Given the description of an element on the screen output the (x, y) to click on. 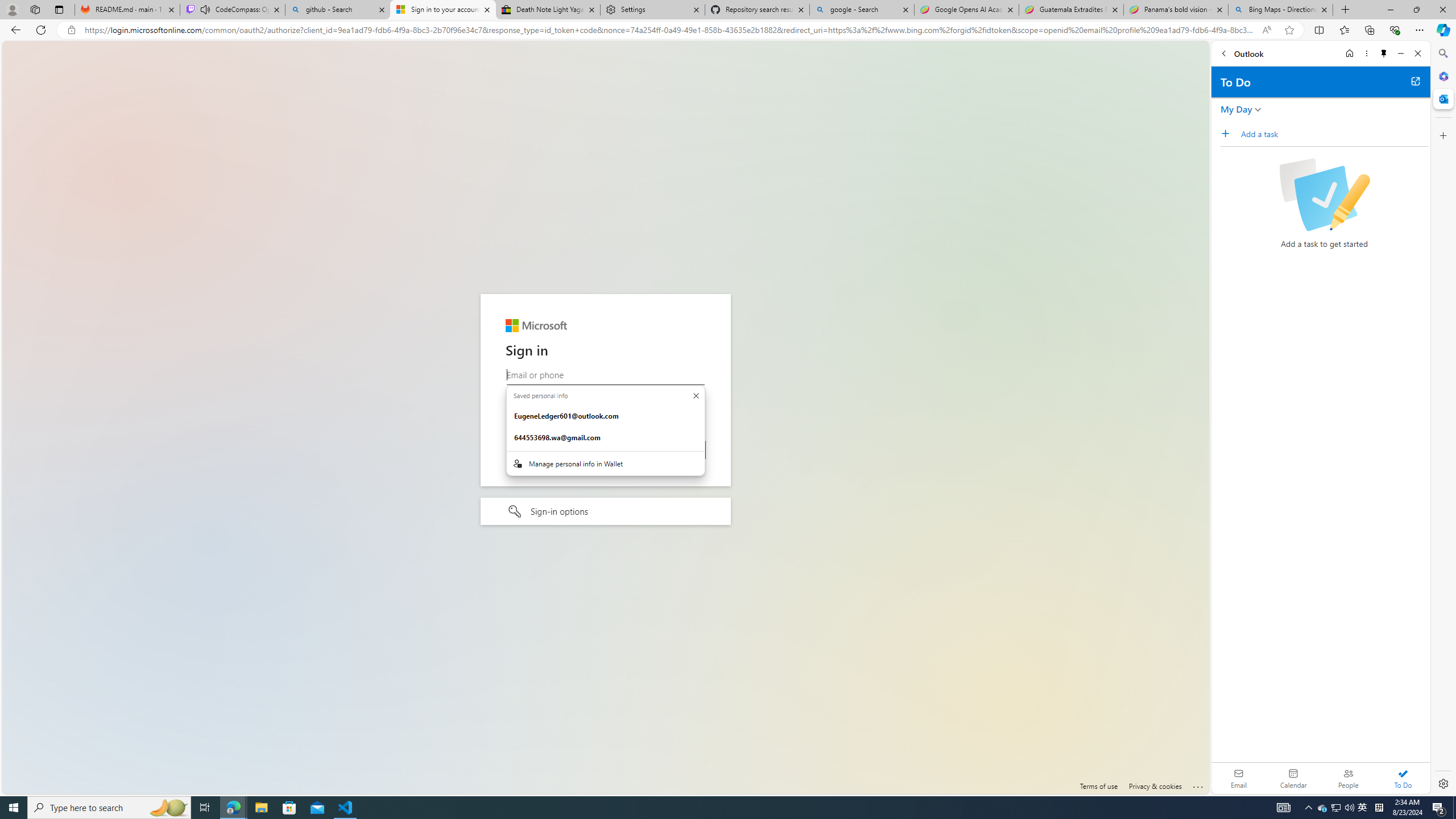
EugeneLedger601@outlook.com. :Basic info suggestion. (605, 416)
Next (675, 449)
Sign-in options (605, 511)
Manage personal info in Wallet (605, 463)
github - Search (337, 9)
To Do (1402, 777)
Add a task (1228, 133)
